Given the description of an element on the screen output the (x, y) to click on. 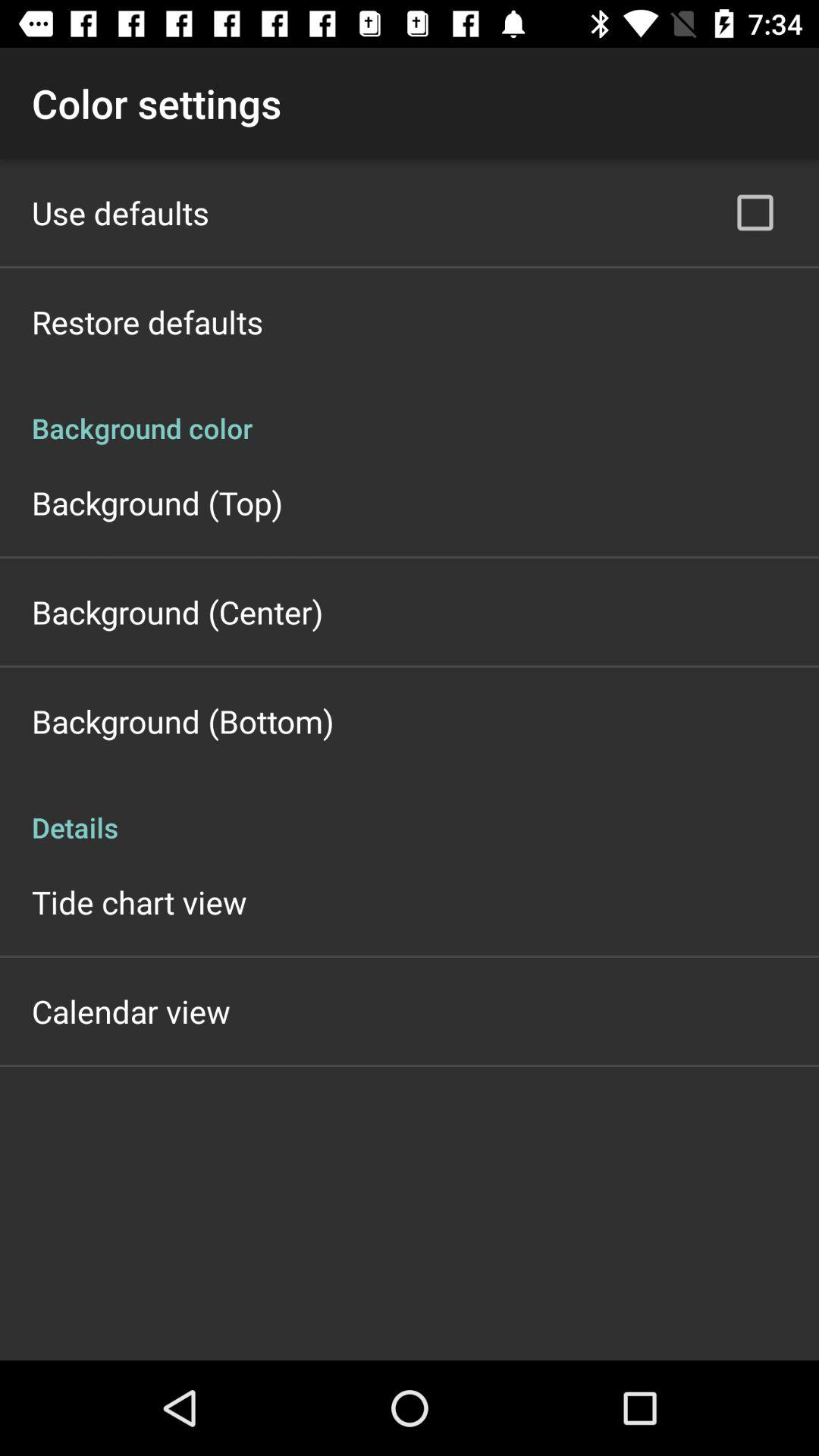
jump to the tide chart view item (138, 901)
